Given the description of an element on the screen output the (x, y) to click on. 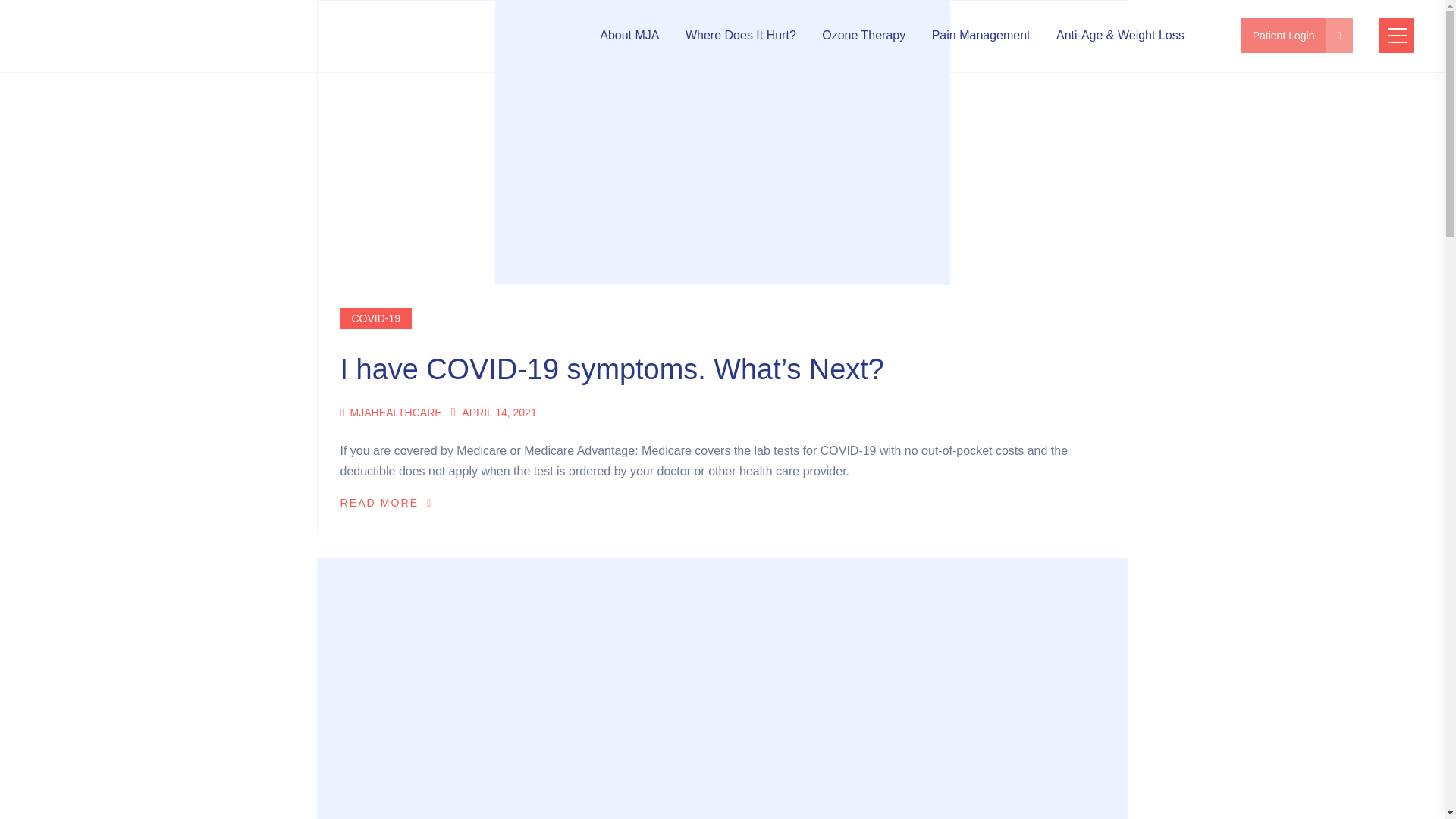
Pain Management (975, 34)
Ozone Therapy (857, 34)
Where Does It Hurt? (735, 34)
About MJA (623, 34)
